Given the description of an element on the screen output the (x, y) to click on. 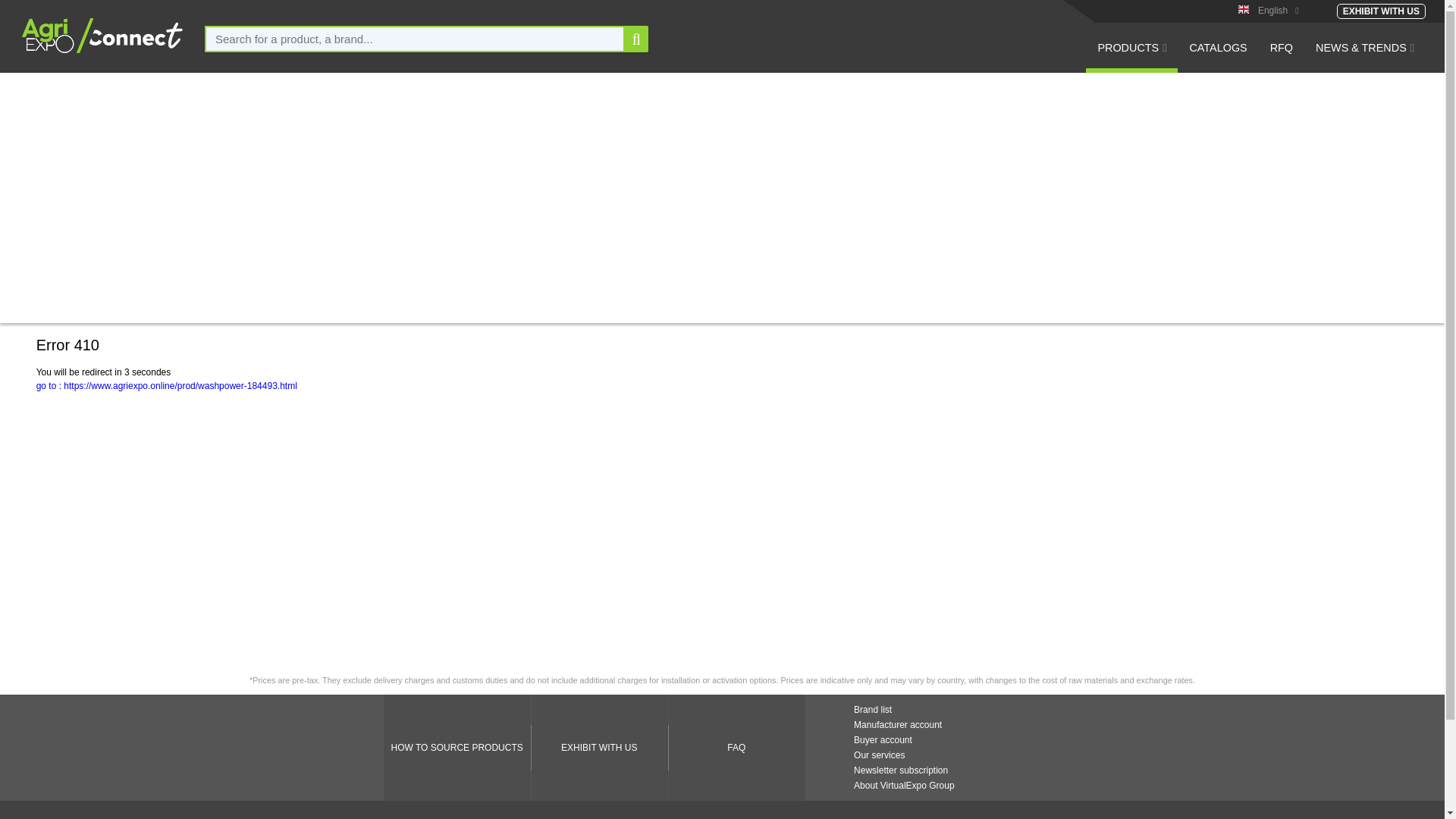
RFQ (1281, 56)
Manufacturer account (897, 724)
Our services (878, 755)
HOW TO SOURCE PRODUCTS (456, 747)
FAQ (736, 747)
Buyer account (882, 739)
CATALOGS (1217, 56)
PRODUCTS (1131, 56)
EXHIBIT WITH US (1380, 11)
Brand list (872, 709)
